Given the description of an element on the screen output the (x, y) to click on. 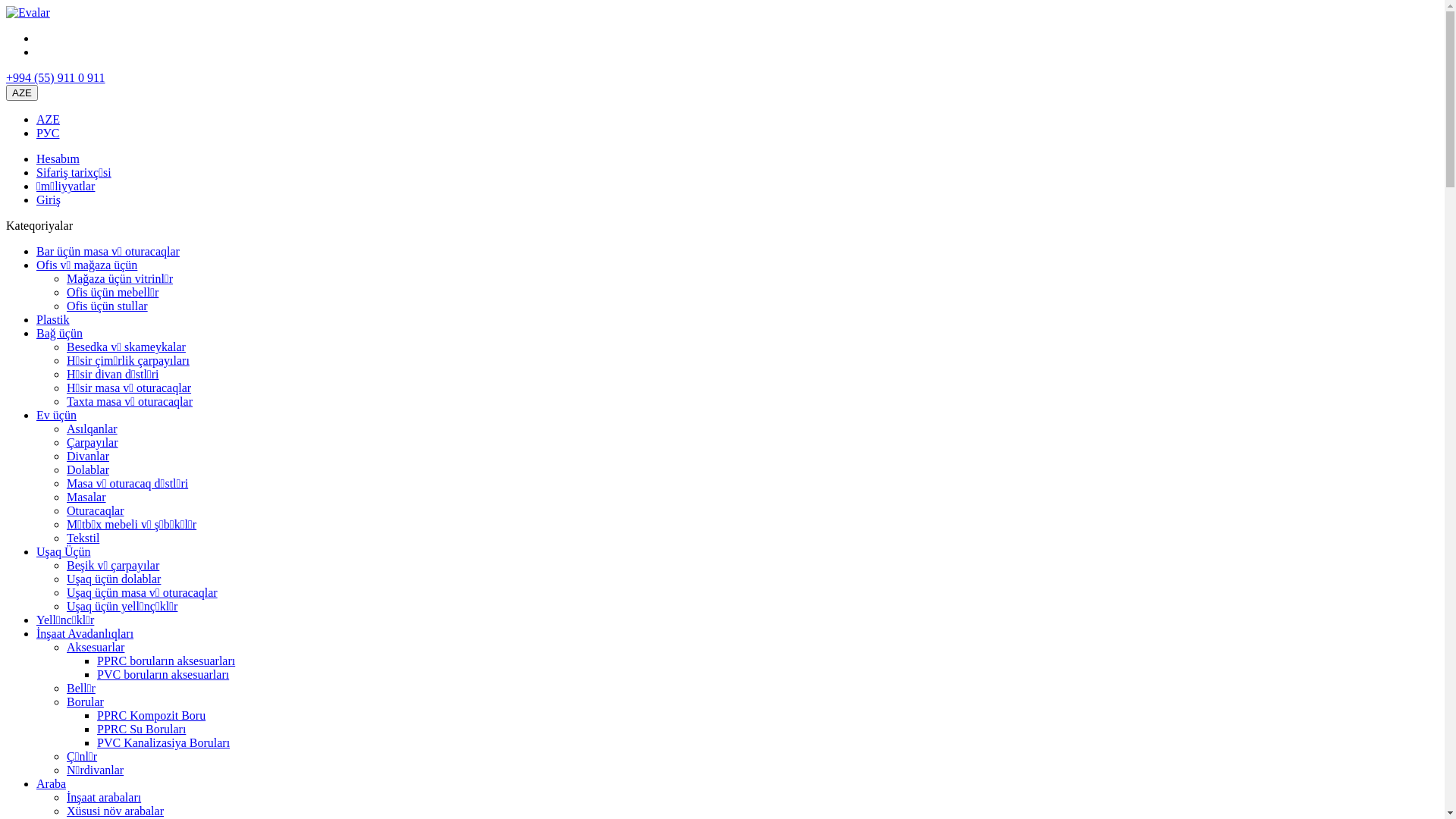
AZE Element type: text (47, 118)
Masalar Element type: text (86, 496)
AZE Element type: text (21, 92)
PPRC Kompozit Boru Element type: text (151, 715)
+994 (55) 911 0 911 Element type: text (55, 77)
Plastik Element type: text (52, 319)
Oturacaqlar Element type: text (95, 510)
Evalar Element type: hover (28, 12)
Divanlar Element type: text (87, 455)
Dolablar Element type: text (87, 469)
Tekstil Element type: text (82, 537)
Araba Element type: text (50, 783)
Borular Element type: text (84, 701)
Aksesuarlar Element type: text (95, 646)
